Given the description of an element on the screen output the (x, y) to click on. 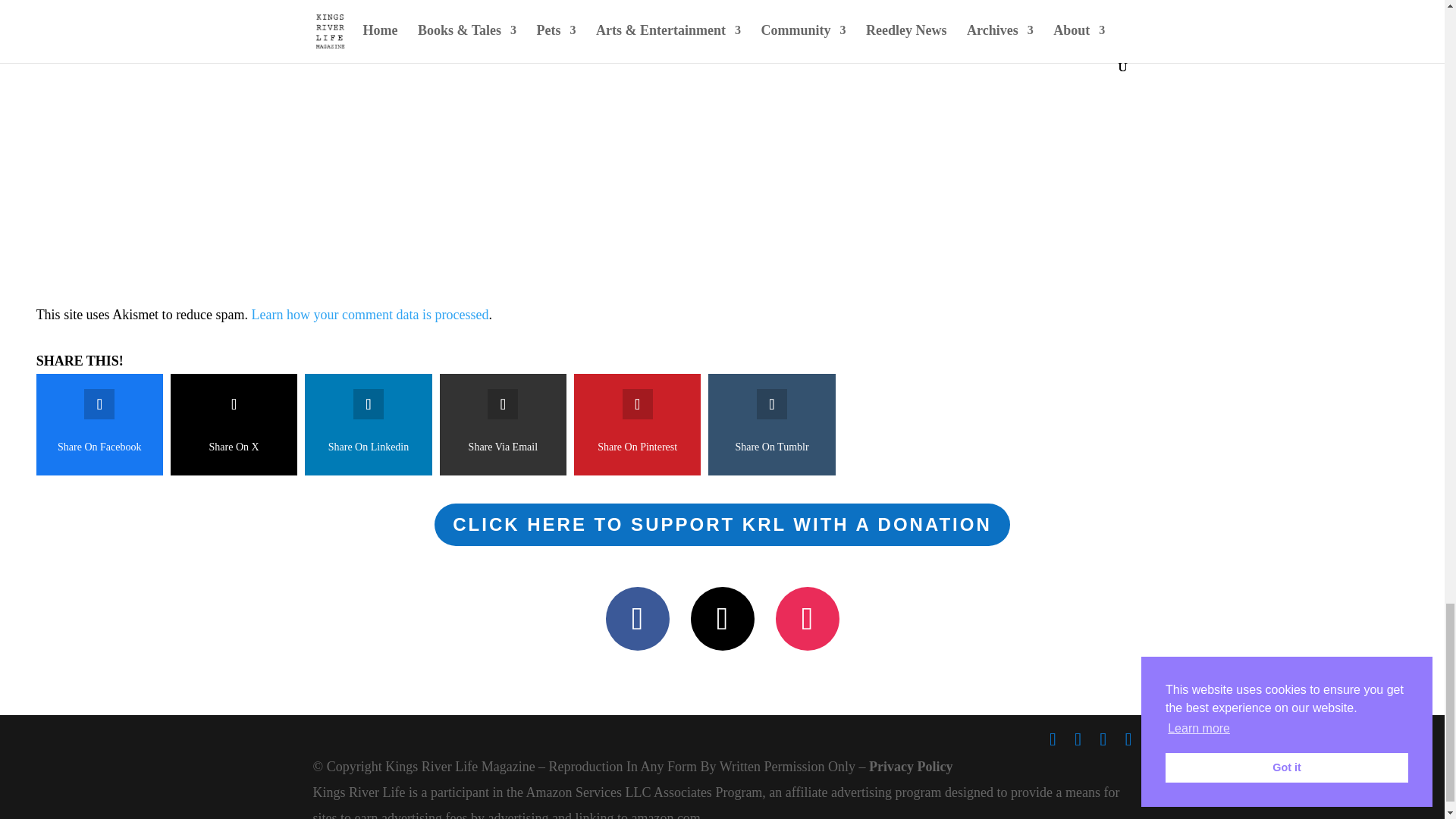
Follow on Instagram (806, 618)
Follow on Facebook (636, 618)
Follow on X (722, 618)
